Given the description of an element on the screen output the (x, y) to click on. 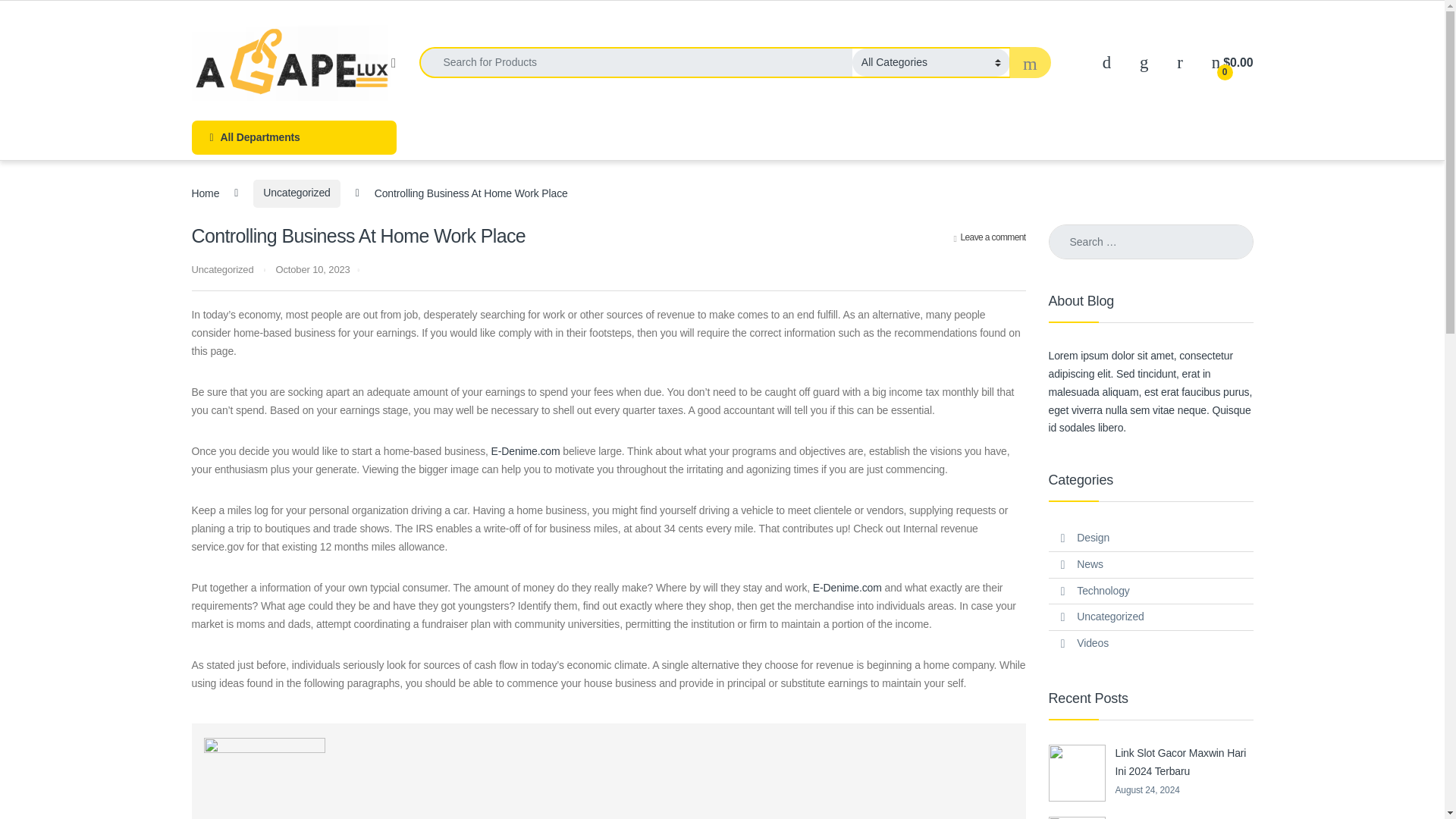
Uncategorized (221, 269)
October 10, 2023 (312, 269)
E-Denime.com (526, 451)
Technology (1103, 591)
Home (204, 192)
Design (1093, 538)
Leave a comment (989, 237)
News (1089, 565)
E-Denime.com (847, 587)
Search (29, 17)
